Given the description of an element on the screen output the (x, y) to click on. 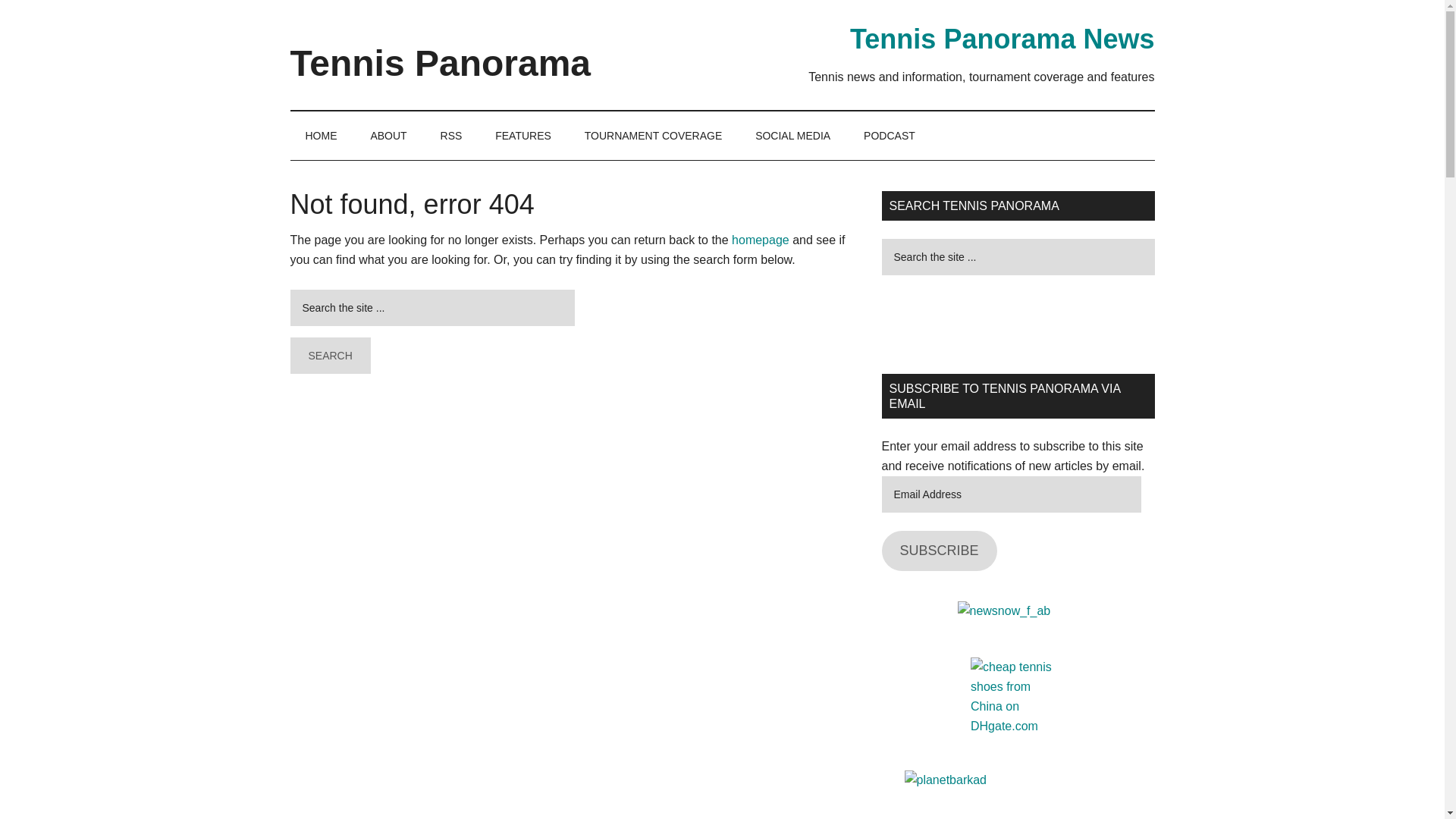
HOME (320, 135)
Search (329, 355)
FEATURES (523, 135)
PODCAST (889, 135)
Tennis Panorama News (1002, 38)
ABOUT (388, 135)
Search (329, 355)
